Given the description of an element on the screen output the (x, y) to click on. 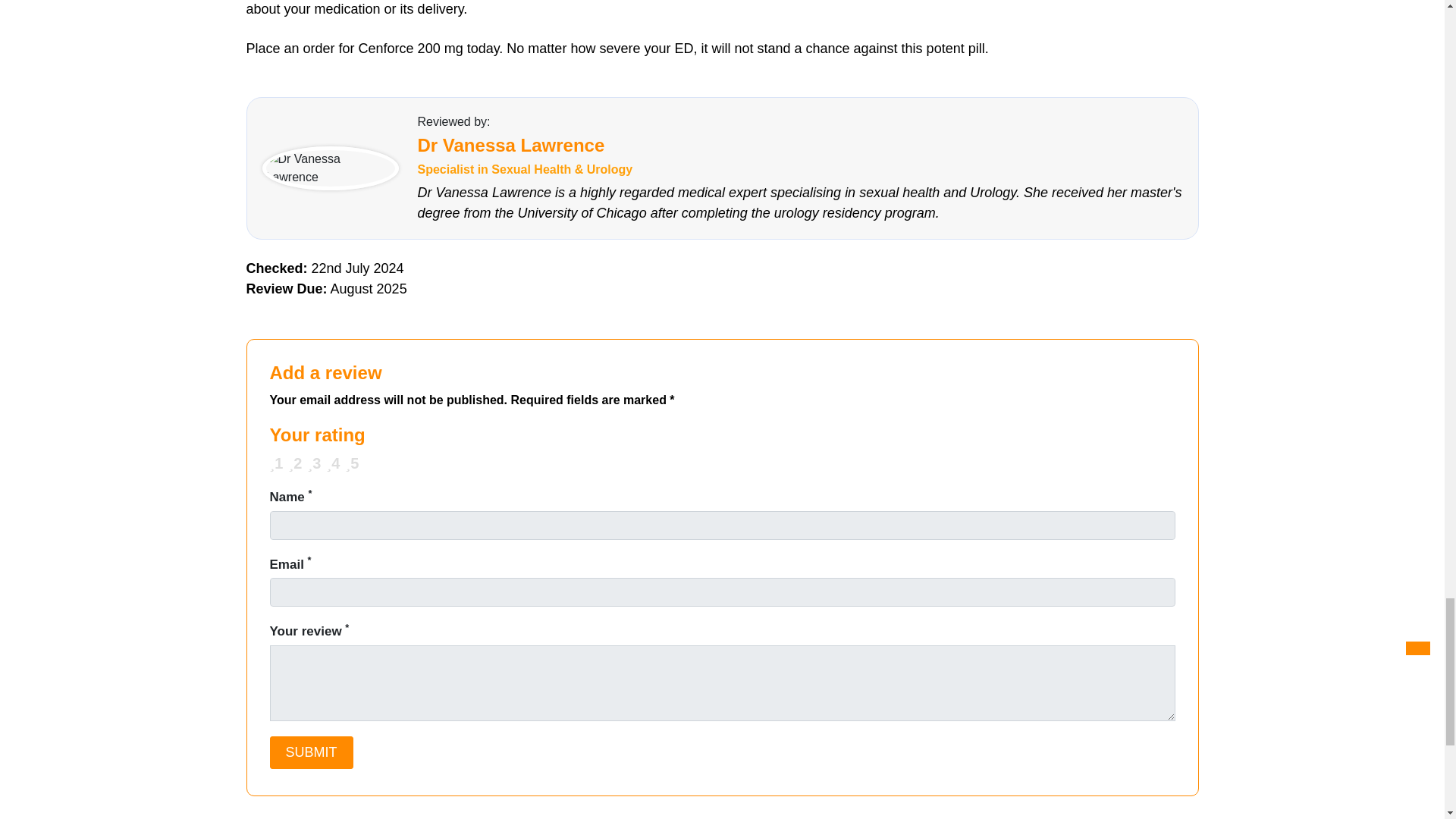
2 (274, 459)
5 (274, 459)
Submit (311, 752)
1 (274, 459)
3 (274, 459)
4 (274, 459)
